Given the description of an element on the screen output the (x, y) to click on. 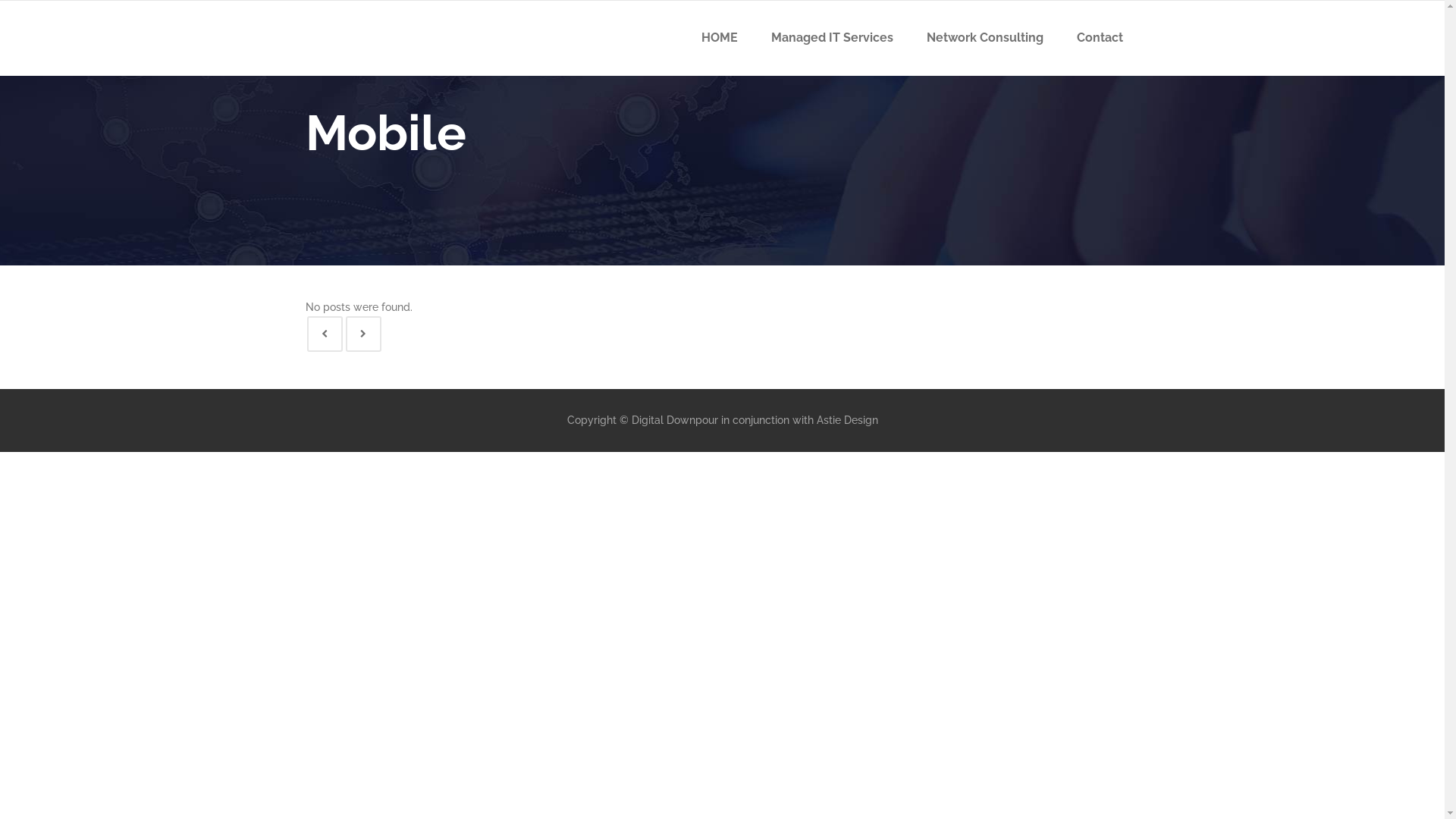
HOME Element type: text (718, 37)
Managed IT Services Element type: text (831, 37)
Network Consulting Element type: text (984, 37)
Contact Element type: text (1099, 37)
Astie Design Element type: text (846, 420)
